Given the description of an element on the screen output the (x, y) to click on. 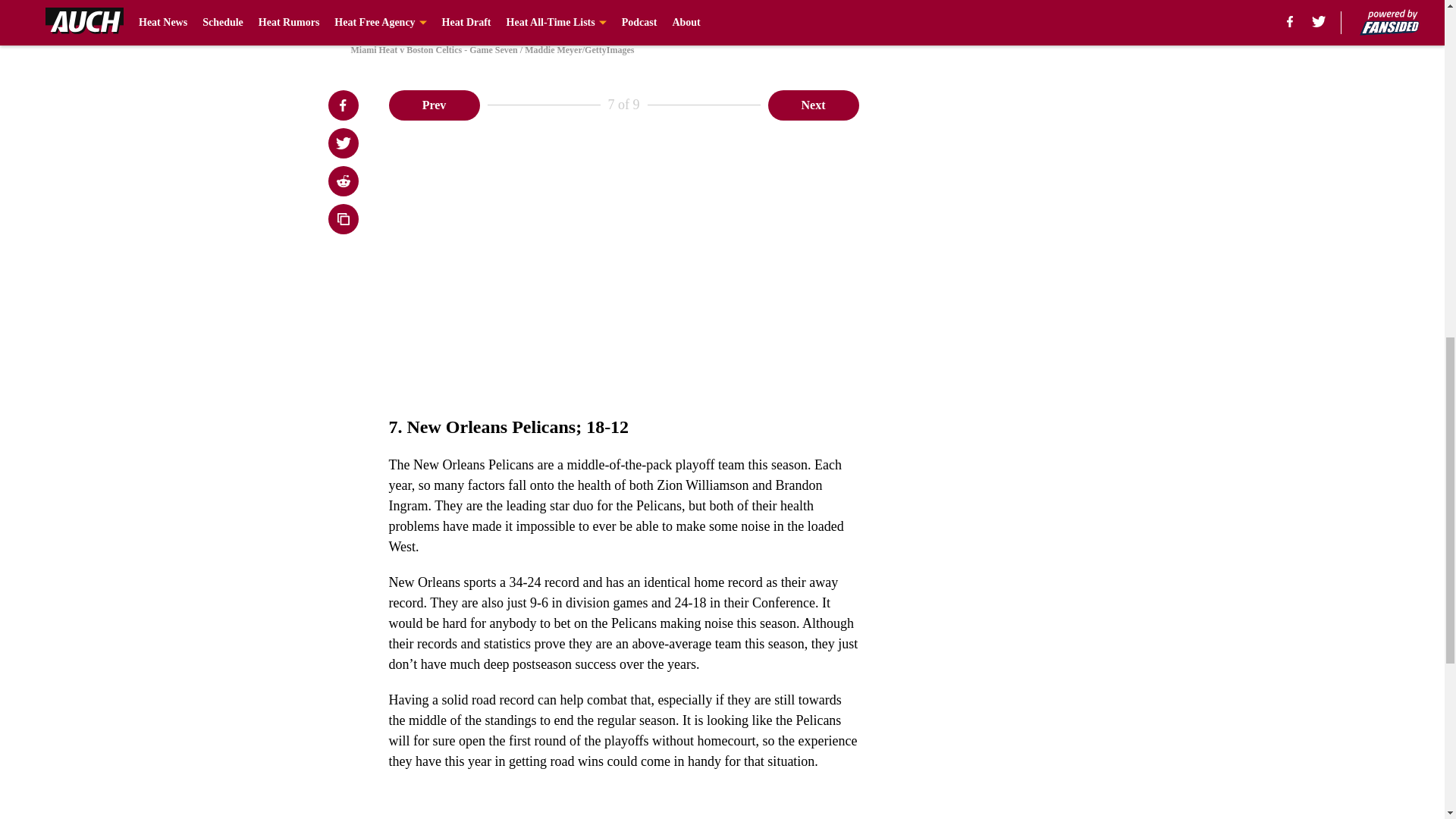
Next (813, 104)
Prev (433, 104)
Miami Heat v Boston Celtics - Game Seven (721, 14)
